Given the description of an element on the screen output the (x, y) to click on. 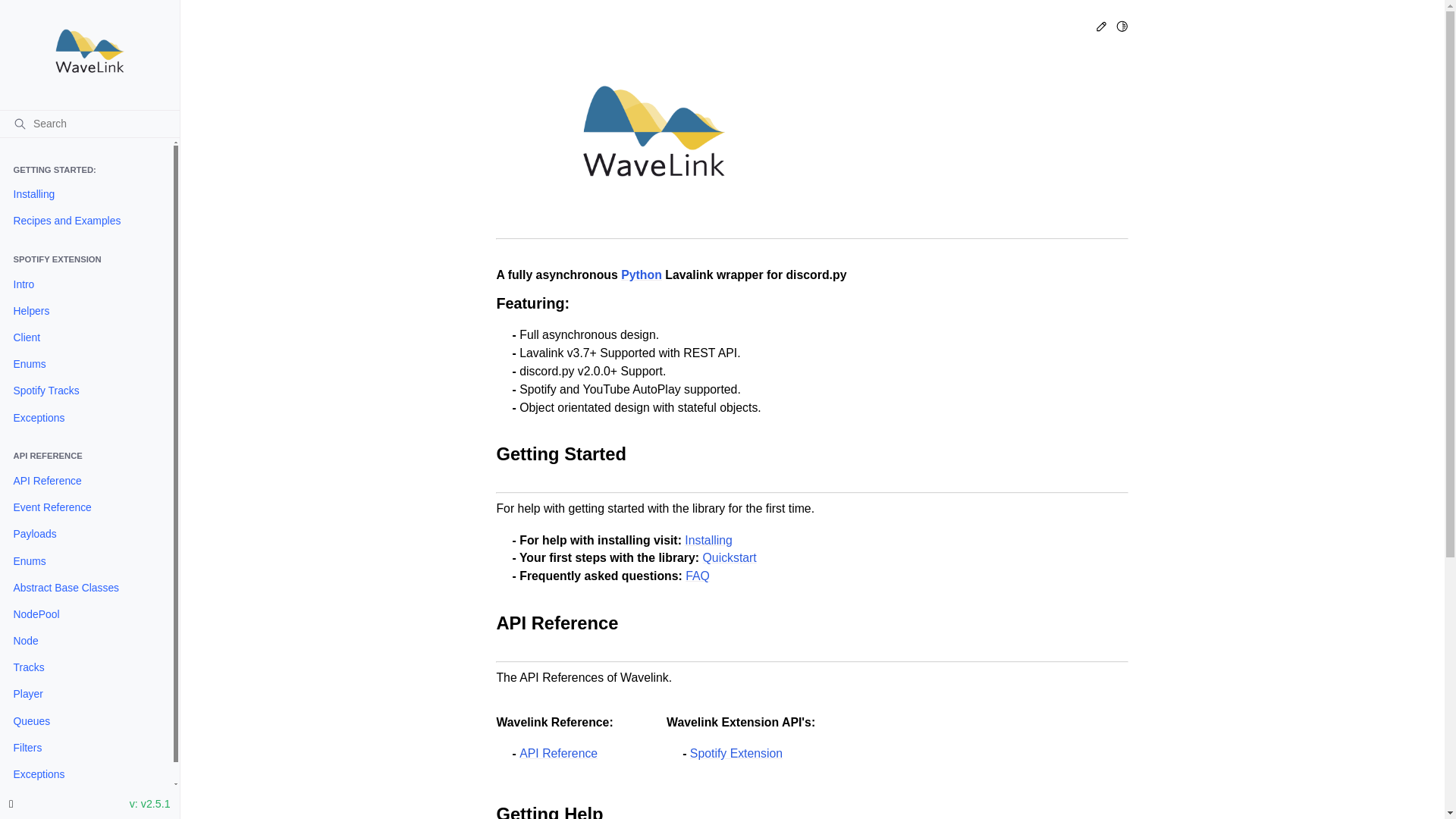
Abstract Base Classes (85, 587)
Tracks (85, 668)
Client (85, 337)
Payloads (85, 534)
Filters (85, 747)
Recipes and Examples (85, 221)
API Reference (85, 480)
Player (85, 694)
Intro (85, 284)
Spotify Tracks (85, 391)
NodePool (85, 614)
Node (85, 641)
Queues (85, 721)
Exceptions (85, 774)
